Given the description of an element on the screen output the (x, y) to click on. 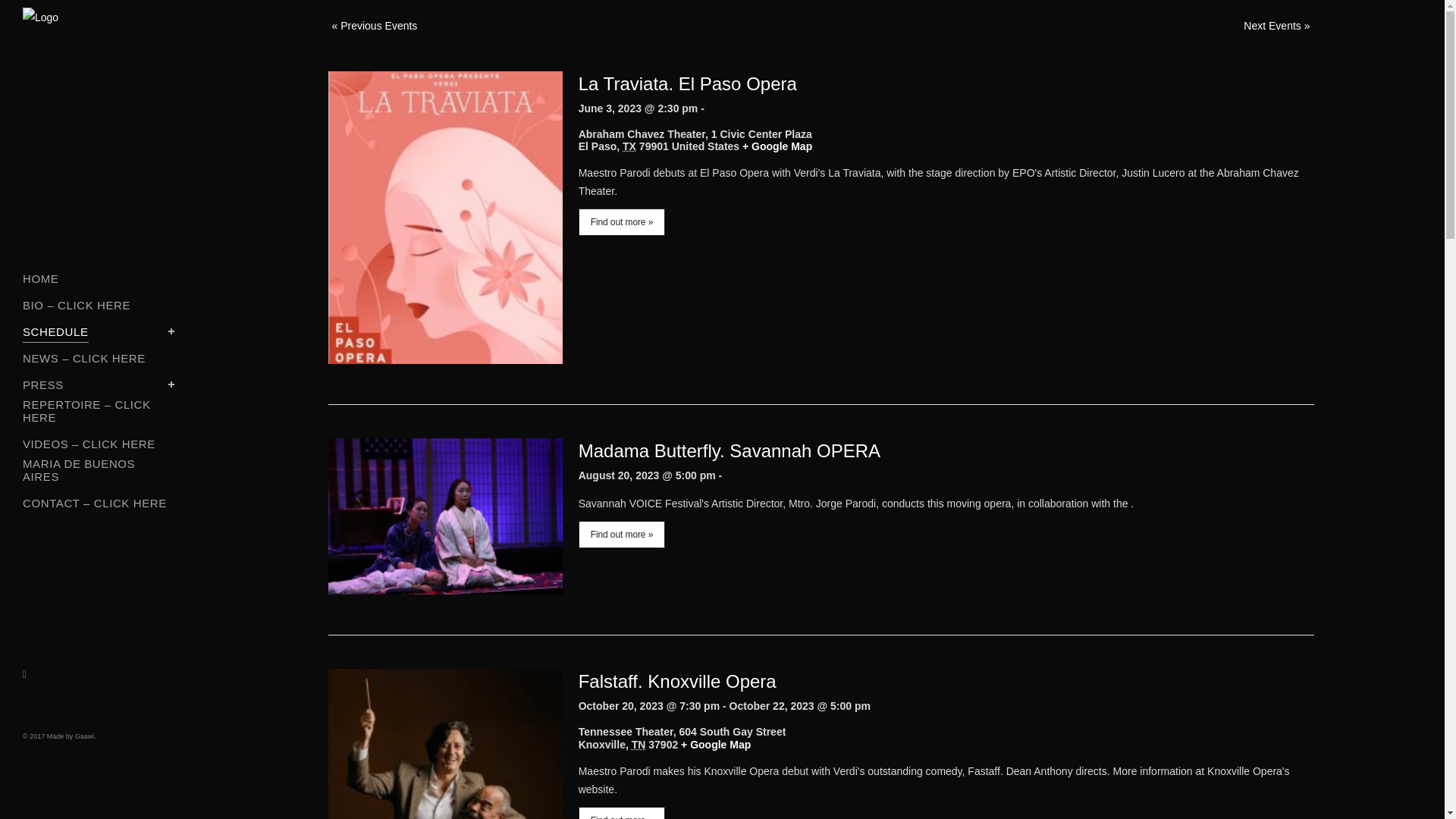
Tennessee (638, 744)
Texas (629, 146)
Madama Butterfly. Savannah OPERA (729, 450)
Madama Butterfly. Savannah OPERA (729, 450)
SCHEDULE (98, 331)
MARIA DE BUENOS AIRES (98, 472)
Falstaff. Knoxville Opera (677, 680)
Gaawi (84, 736)
La Traviata. El Paso Opera (687, 82)
HOME (98, 278)
